Given the description of an element on the screen output the (x, y) to click on. 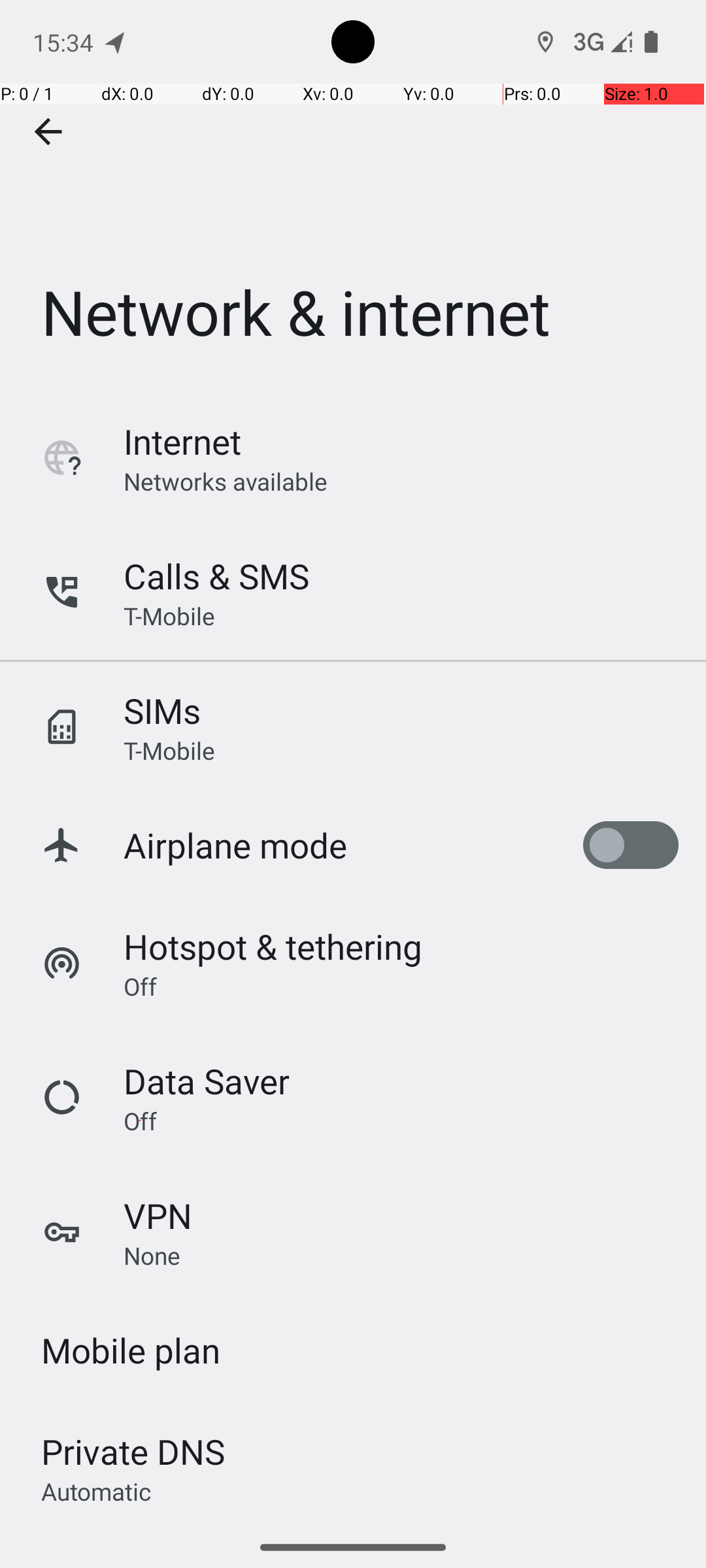
Internet Element type: android.widget.TextView (182, 441)
Networks available Element type: android.widget.TextView (225, 480)
Calls & SMS Element type: android.widget.TextView (216, 575)
T-Mobile Element type: android.widget.TextView (169, 615)
SIMs Element type: android.widget.TextView (161, 710)
Airplane mode Element type: android.widget.TextView (235, 844)
Hotspot & tethering Element type: android.widget.TextView (272, 946)
Data Saver Element type: android.widget.TextView (206, 1080)
VPN Element type: android.widget.TextView (157, 1215)
Mobile plan Element type: android.widget.TextView (130, 1349)
Private DNS Element type: android.widget.TextView (132, 1451)
Automatic Element type: android.widget.TextView (96, 1490)
